Given the description of an element on the screen output the (x, y) to click on. 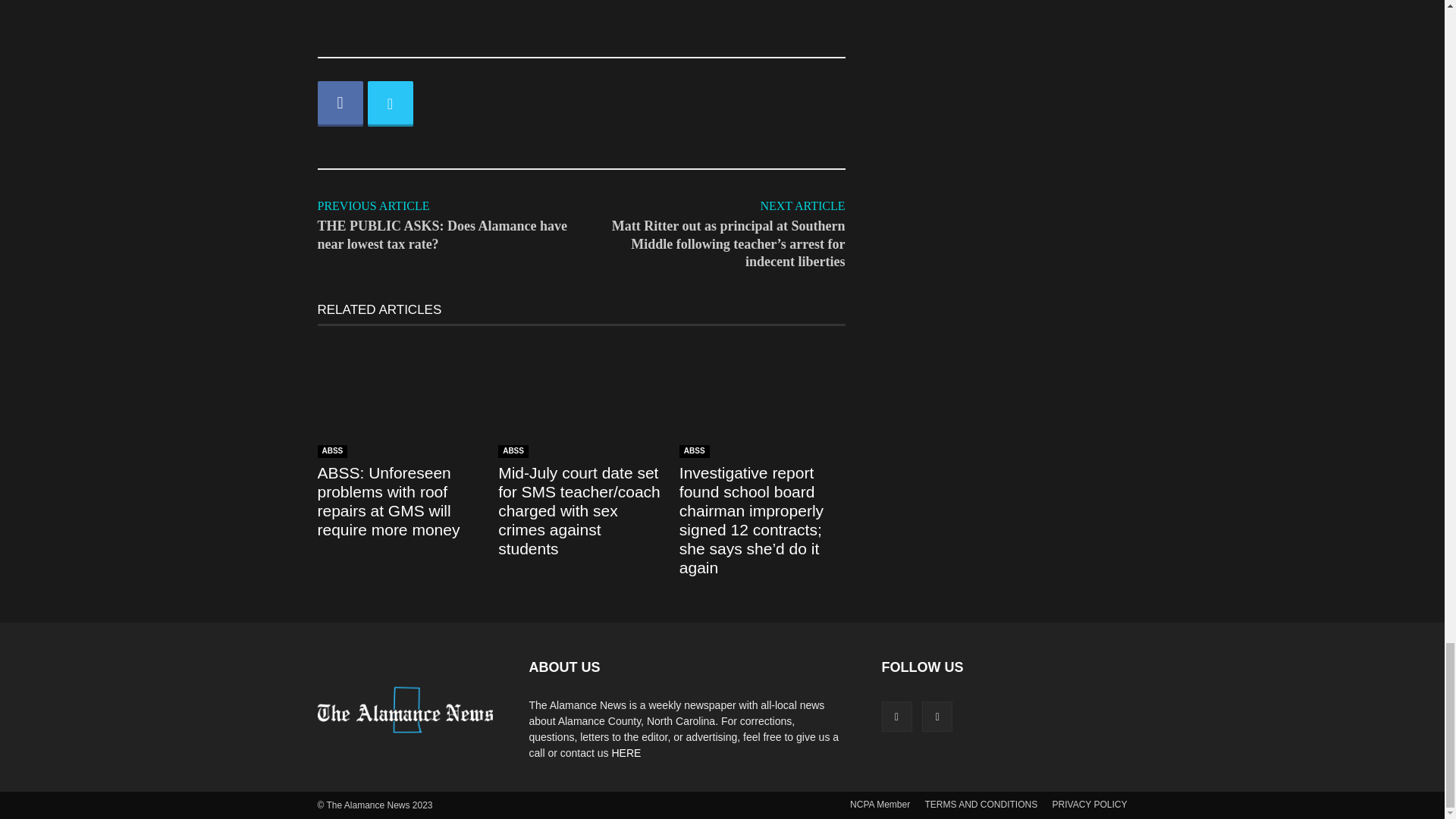
Facebook (339, 103)
Twitter (389, 103)
